Given the description of an element on the screen output the (x, y) to click on. 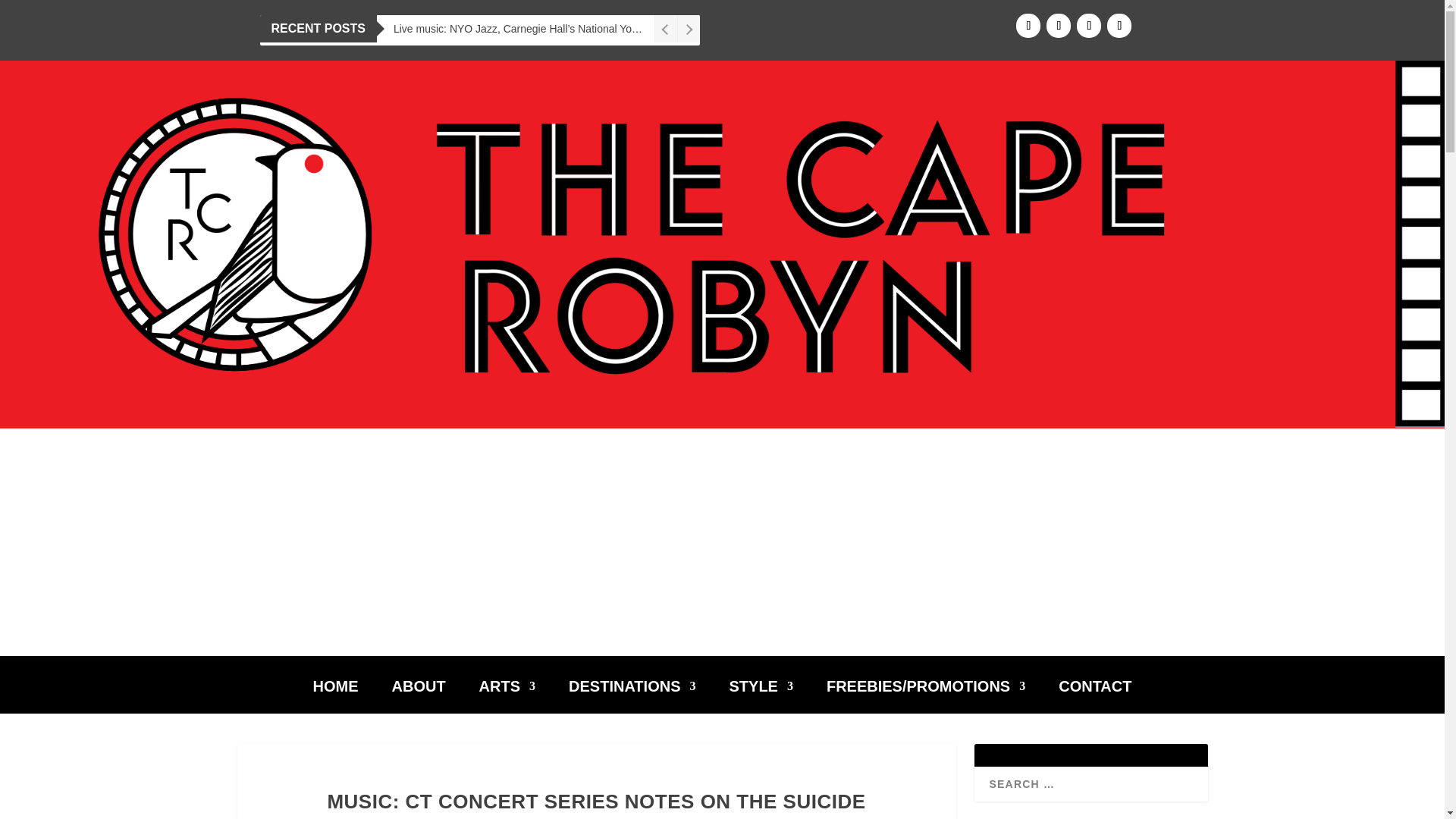
Follow on X (1088, 25)
Follow on Instagram (1058, 25)
Follow on Facebook (1028, 25)
Follow on LinkedIn (1118, 25)
